Given the description of an element on the screen output the (x, y) to click on. 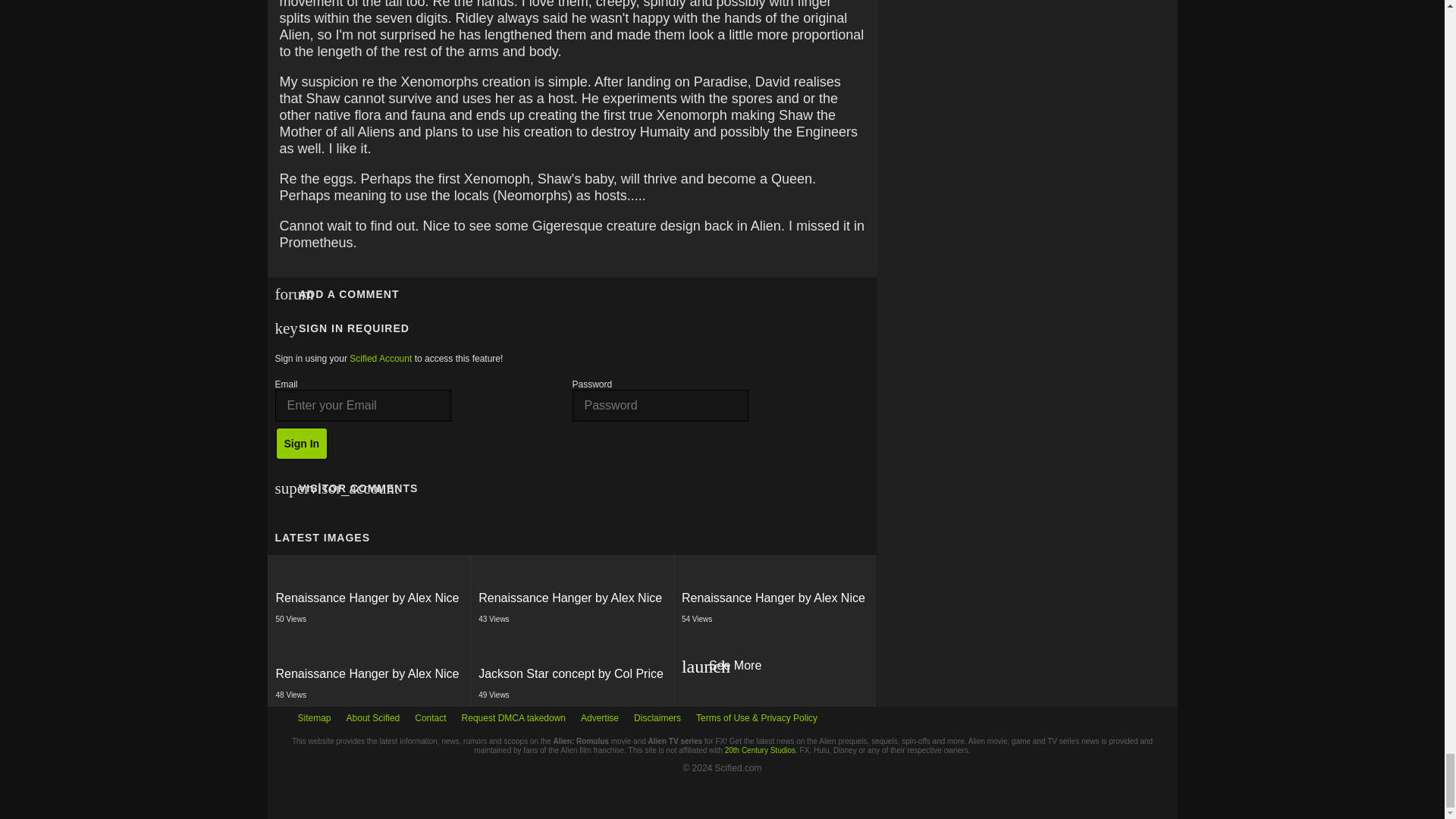
See More (774, 668)
See More (774, 668)
